Given the description of an element on the screen output the (x, y) to click on. 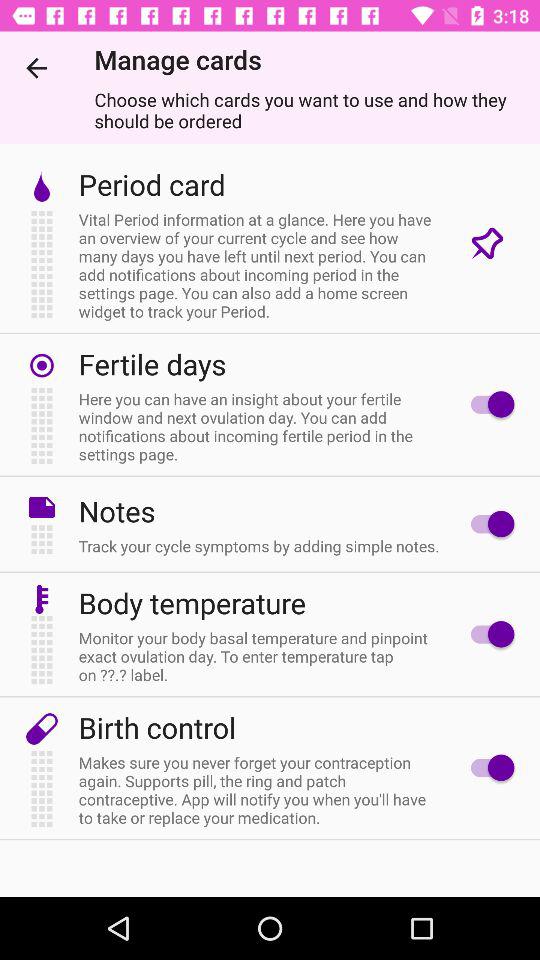
toggle body temperature (487, 634)
